Given the description of an element on the screen output the (x, y) to click on. 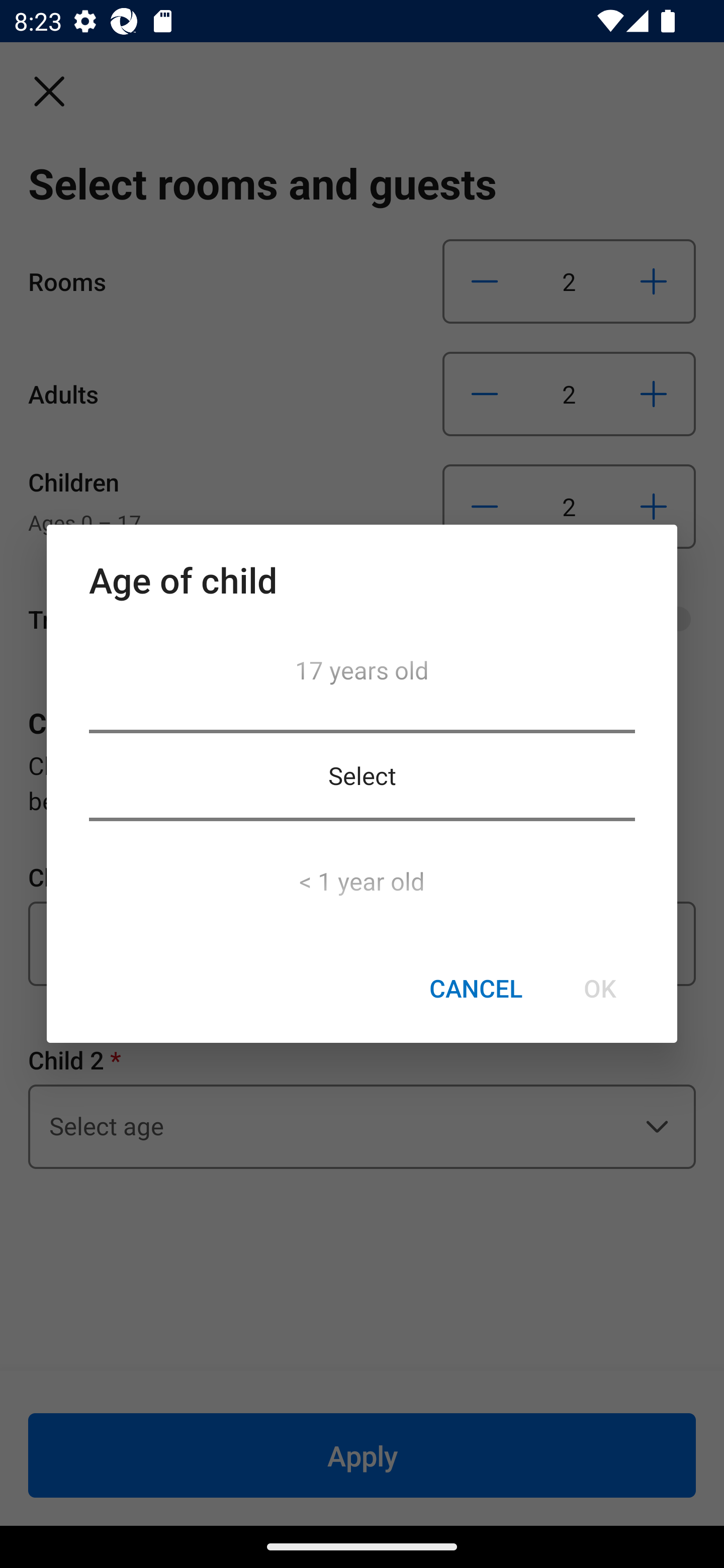
17 years old (361, 675)
Select (361, 774)
< 1 year old (361, 875)
CANCEL (475, 988)
OK (599, 988)
